Given the description of an element on the screen output the (x, y) to click on. 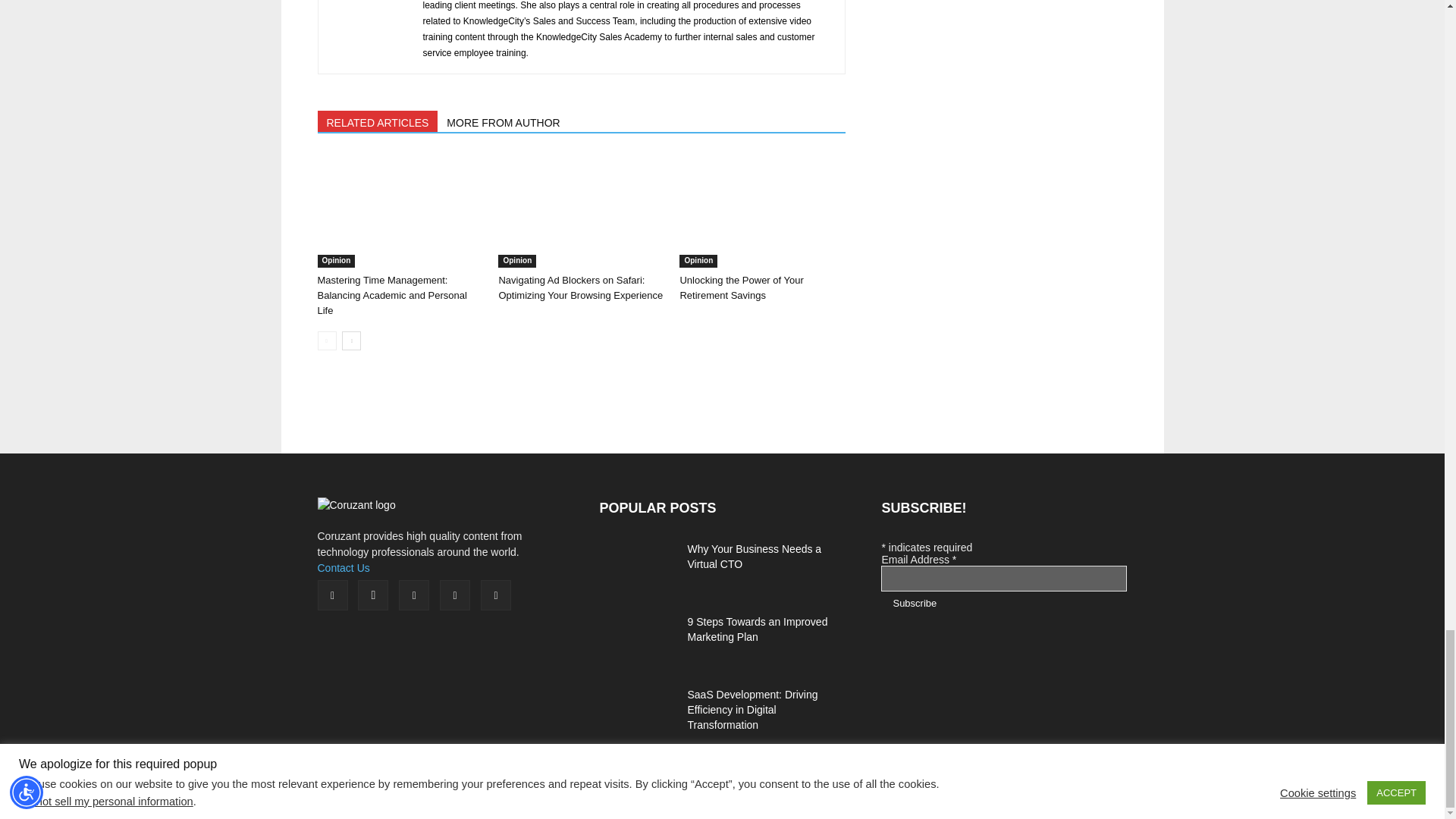
Subscribe (913, 603)
